Given the description of an element on the screen output the (x, y) to click on. 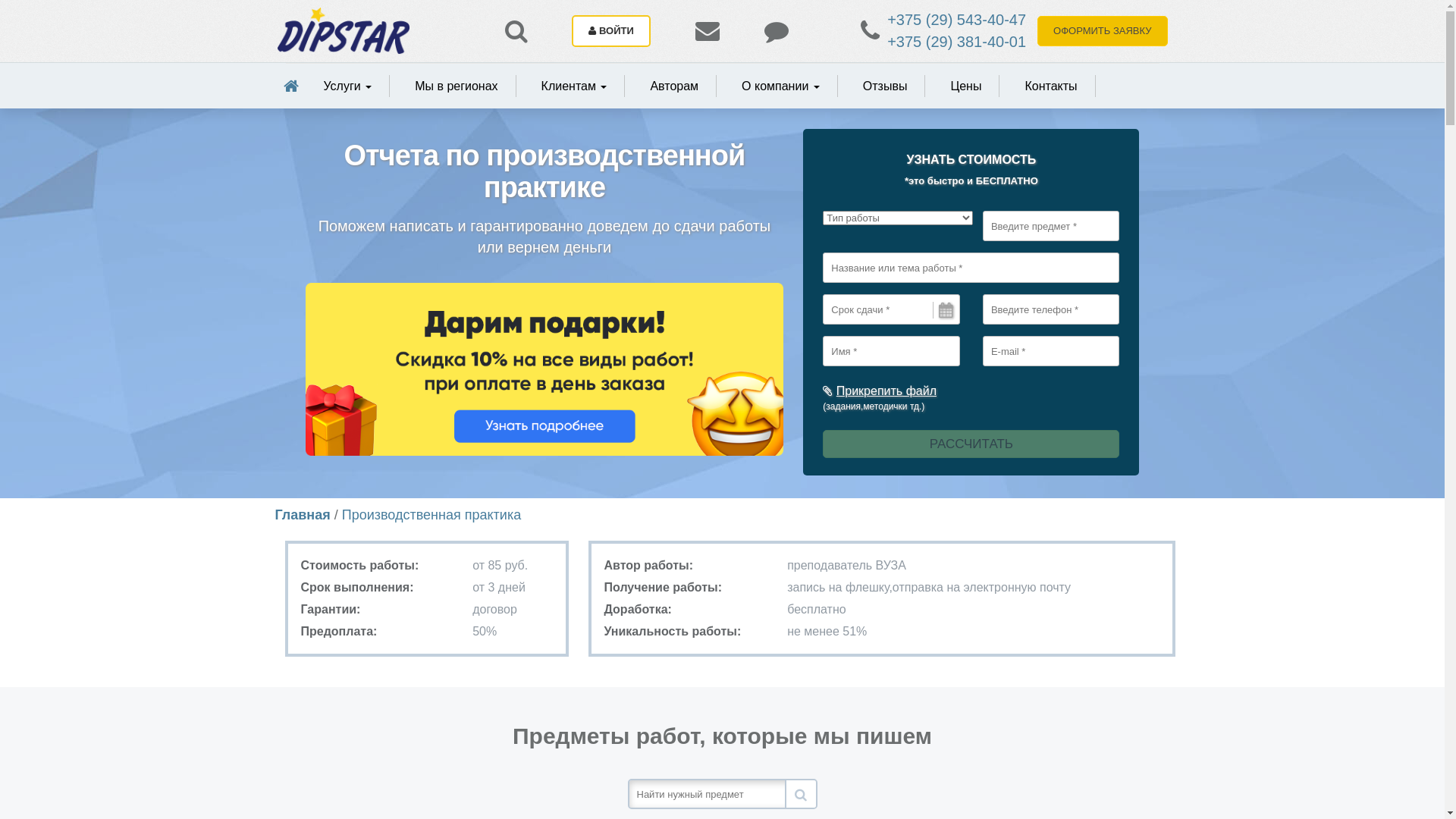
+375 (29) 543-40-47 Element type: text (956, 19)
+375 (29) 381-40-01 Element type: text (956, 41)
Dipstar.by Element type: hover (343, 30)
